Given the description of an element on the screen output the (x, y) to click on. 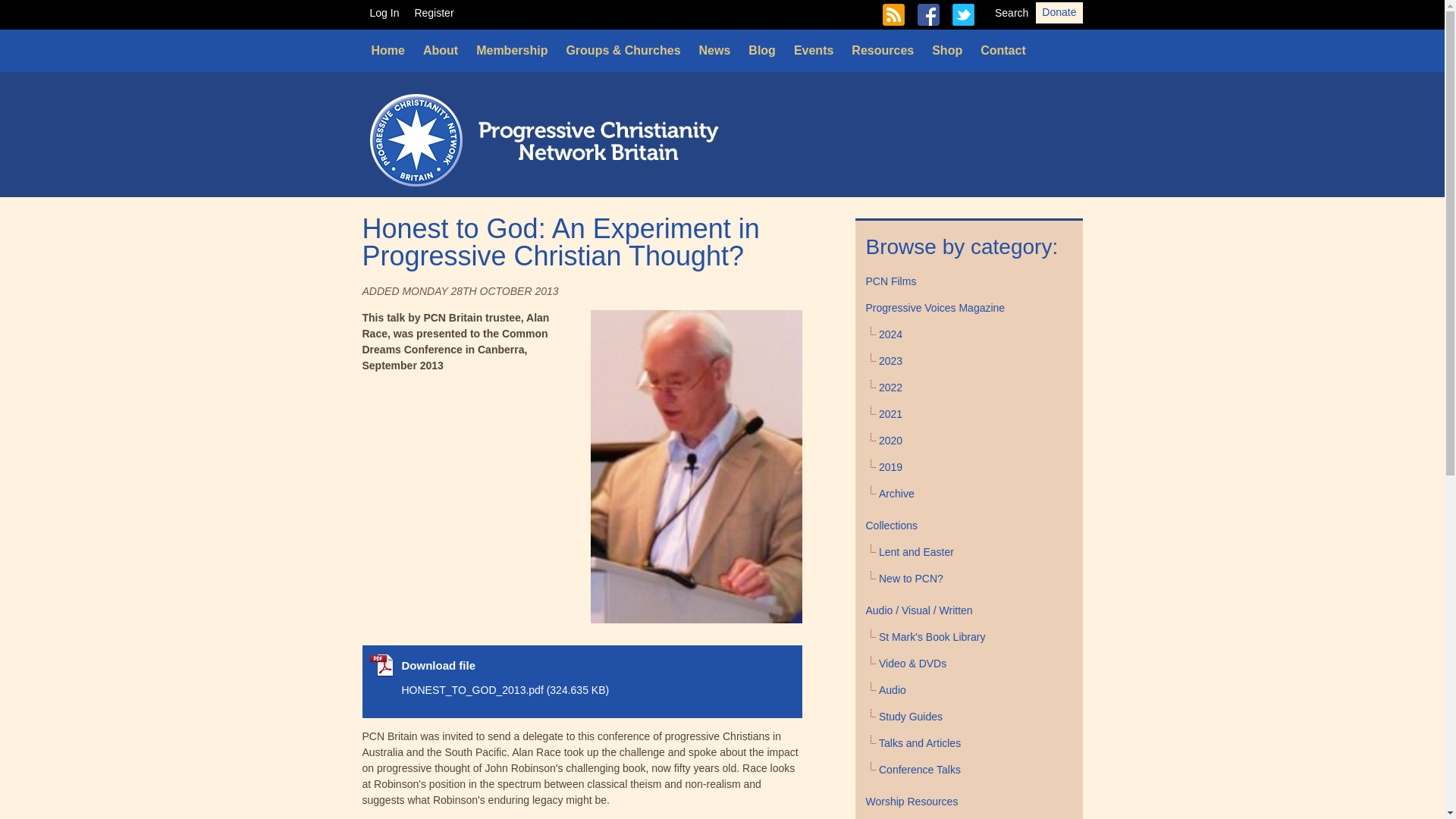
Resources (883, 50)
Lent and Easter (916, 551)
2022 (890, 387)
Talks and Articles (919, 743)
Worship Resources (912, 801)
Collections (891, 525)
Conference Talks (919, 769)
Donate (1058, 12)
St Mark's Book Library (932, 636)
Audio (892, 689)
2020 (890, 440)
Archive (896, 493)
Blog (761, 50)
Study Guides (910, 716)
Events (813, 50)
